Given the description of an element on the screen output the (x, y) to click on. 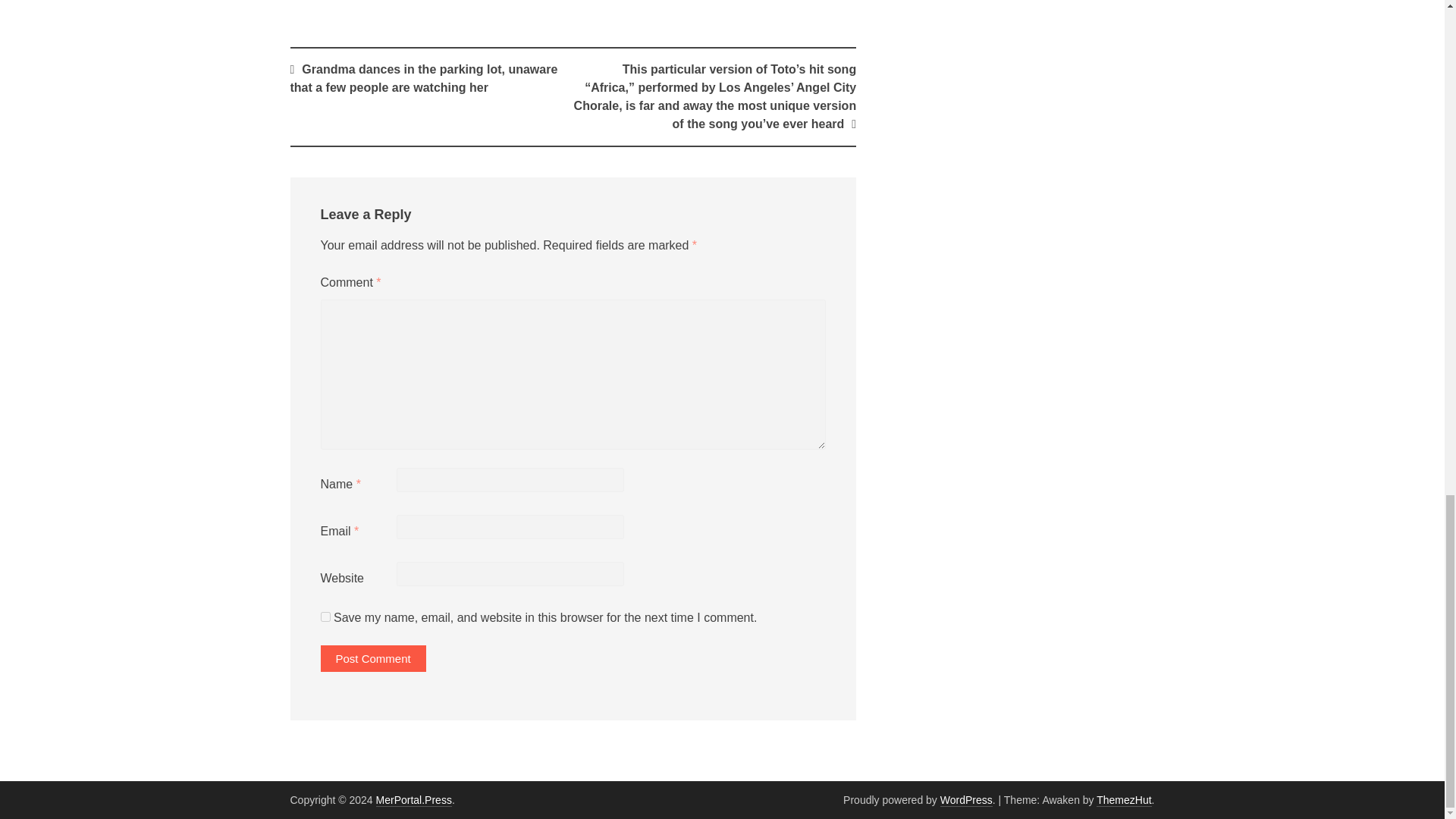
Post Comment (372, 658)
WordPress (966, 799)
MerPortal.Press (413, 799)
MerPortal.Press (413, 799)
Post Comment (372, 658)
yes (325, 616)
WordPress (966, 799)
ThemezHut (1123, 799)
